Given the description of an element on the screen output the (x, y) to click on. 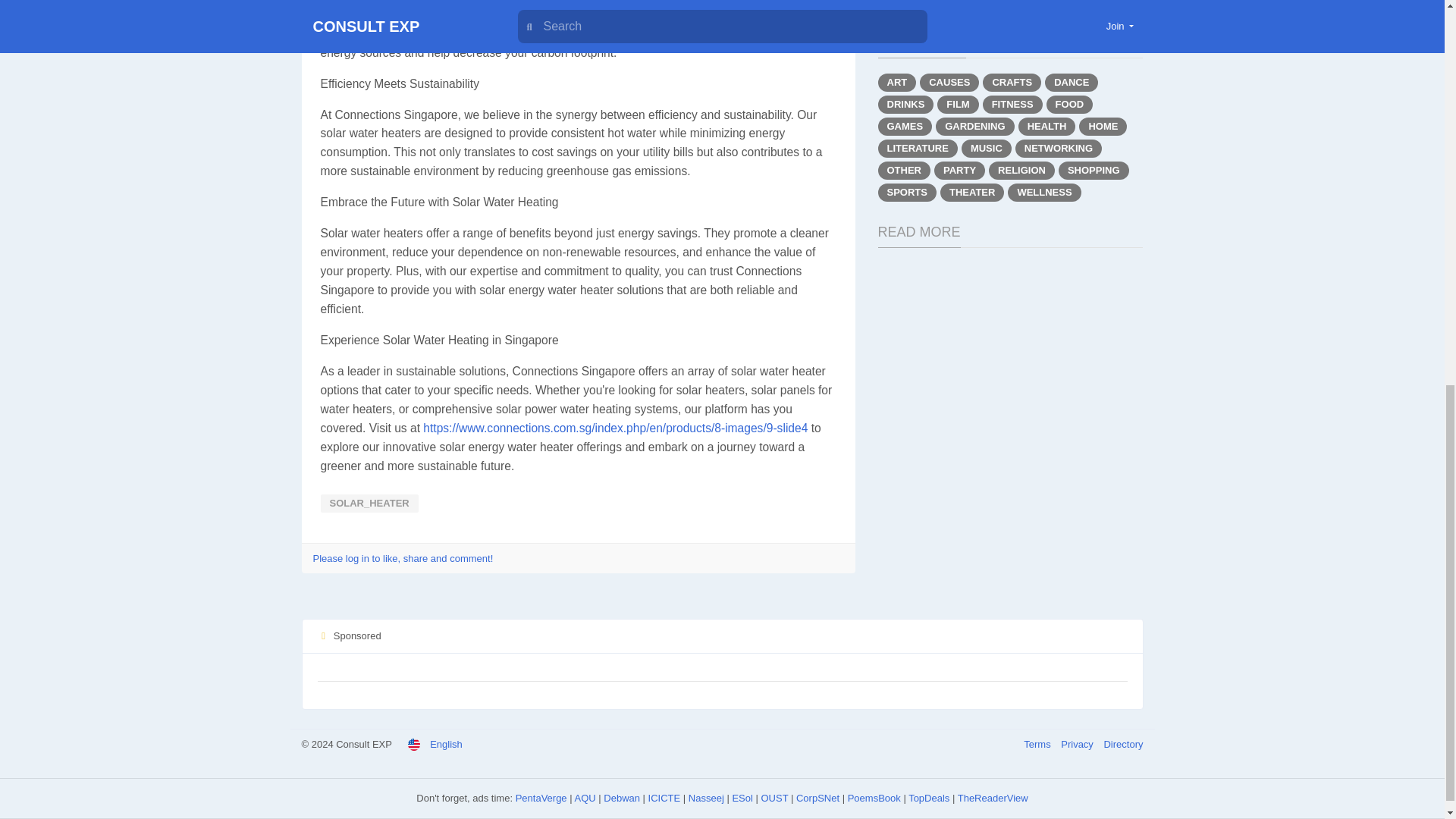
DANCE (1071, 82)
DRINKS (905, 104)
ART (897, 82)
CAUSES (949, 82)
FILM (957, 104)
Please log in to like, share and comment! (403, 558)
CRAFTS (1011, 82)
